Given the description of an element on the screen output the (x, y) to click on. 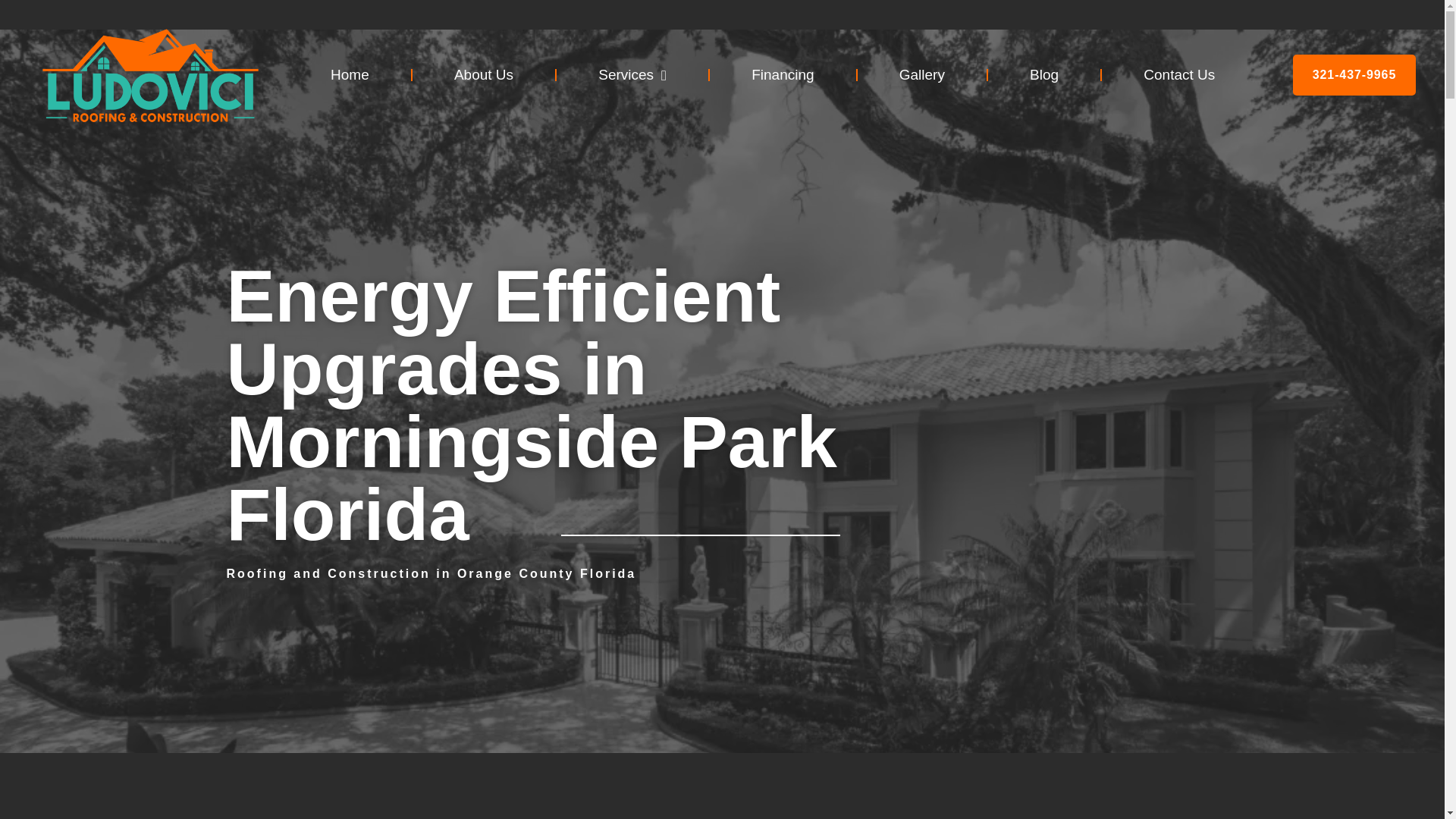
Gallery (922, 74)
Services (631, 74)
321-437-9965 (1353, 74)
About Us (483, 74)
Home (349, 74)
Financing (783, 74)
Blog (1044, 74)
Contact Us (1179, 74)
